Given the description of an element on the screen output the (x, y) to click on. 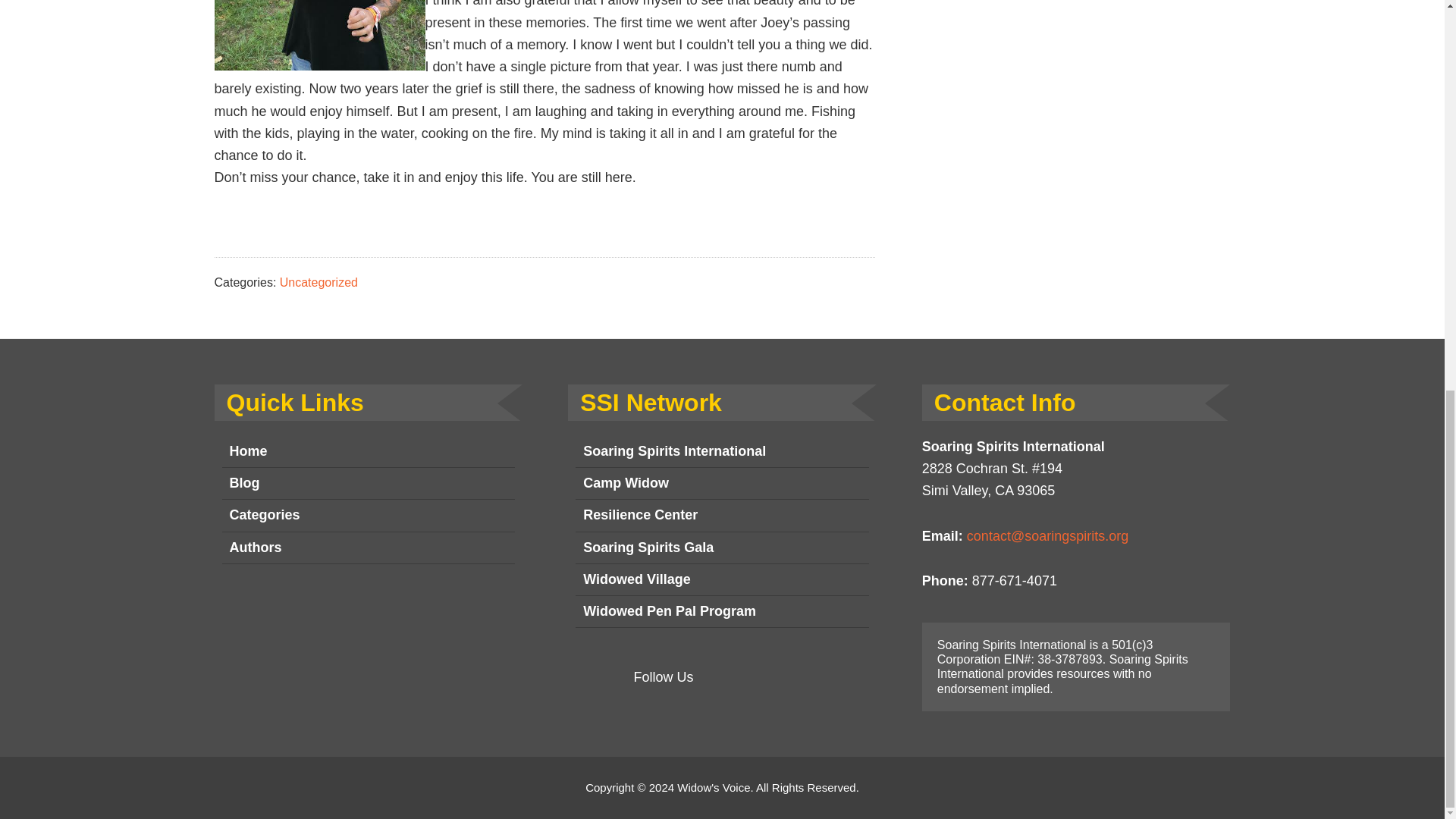
Soaring Spirits Gala (722, 547)
Authors (368, 547)
Blog (368, 483)
Widowed Village (722, 580)
YouTube (791, 677)
Categories (368, 515)
Home (368, 451)
Uncategorized (318, 282)
Instagram (754, 677)
Camp Widow (722, 483)
Facebook (716, 677)
Widowed Pen Pal Program (722, 612)
Soaring Spirits International (722, 451)
Resilience Center (722, 515)
